Given the description of an element on the screen output the (x, y) to click on. 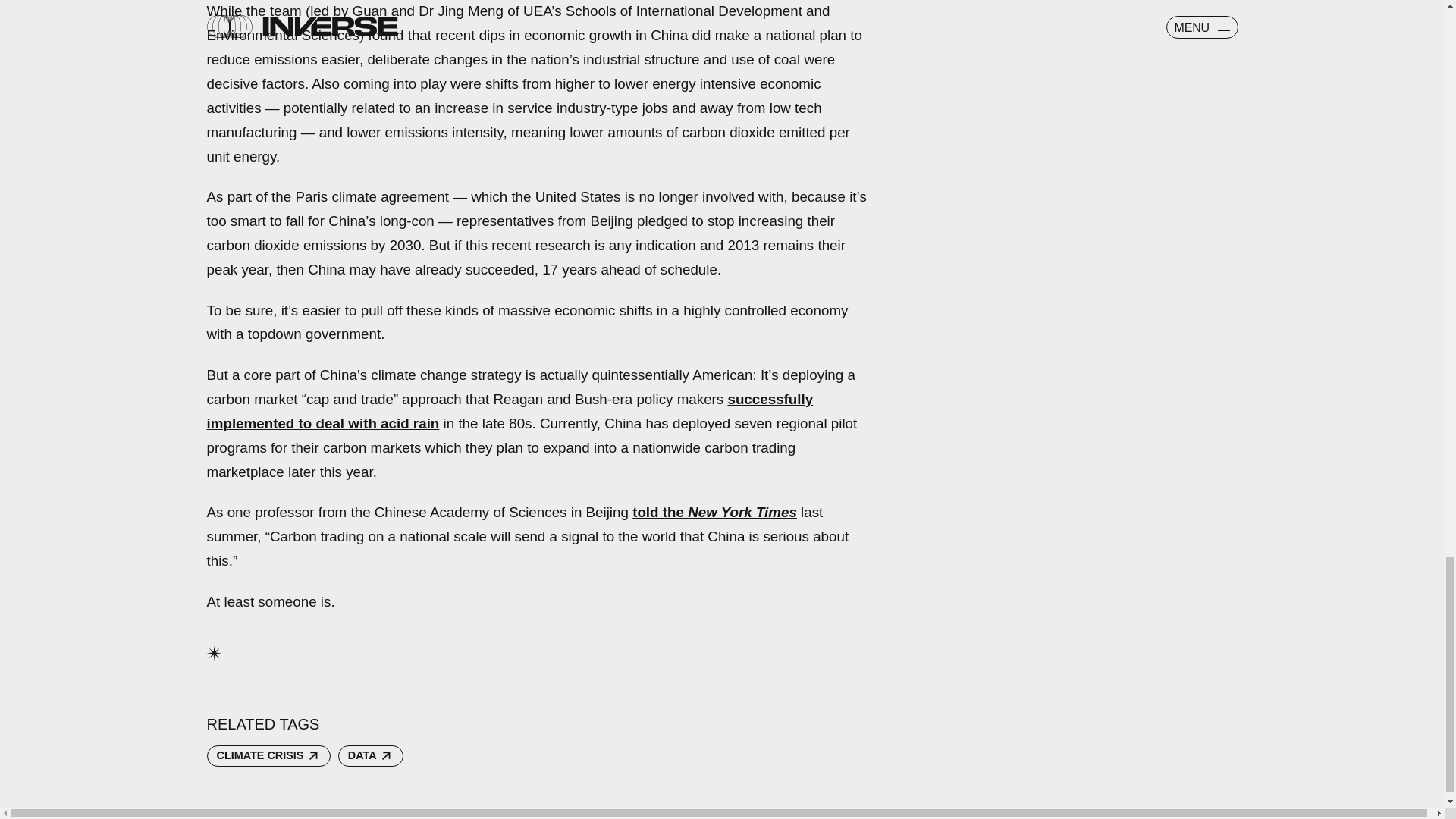
successfully implemented to deal with acid rain (509, 411)
CLIMATE CRISIS (268, 755)
DATA (370, 755)
told the New York Times (713, 512)
